Given the description of an element on the screen output the (x, y) to click on. 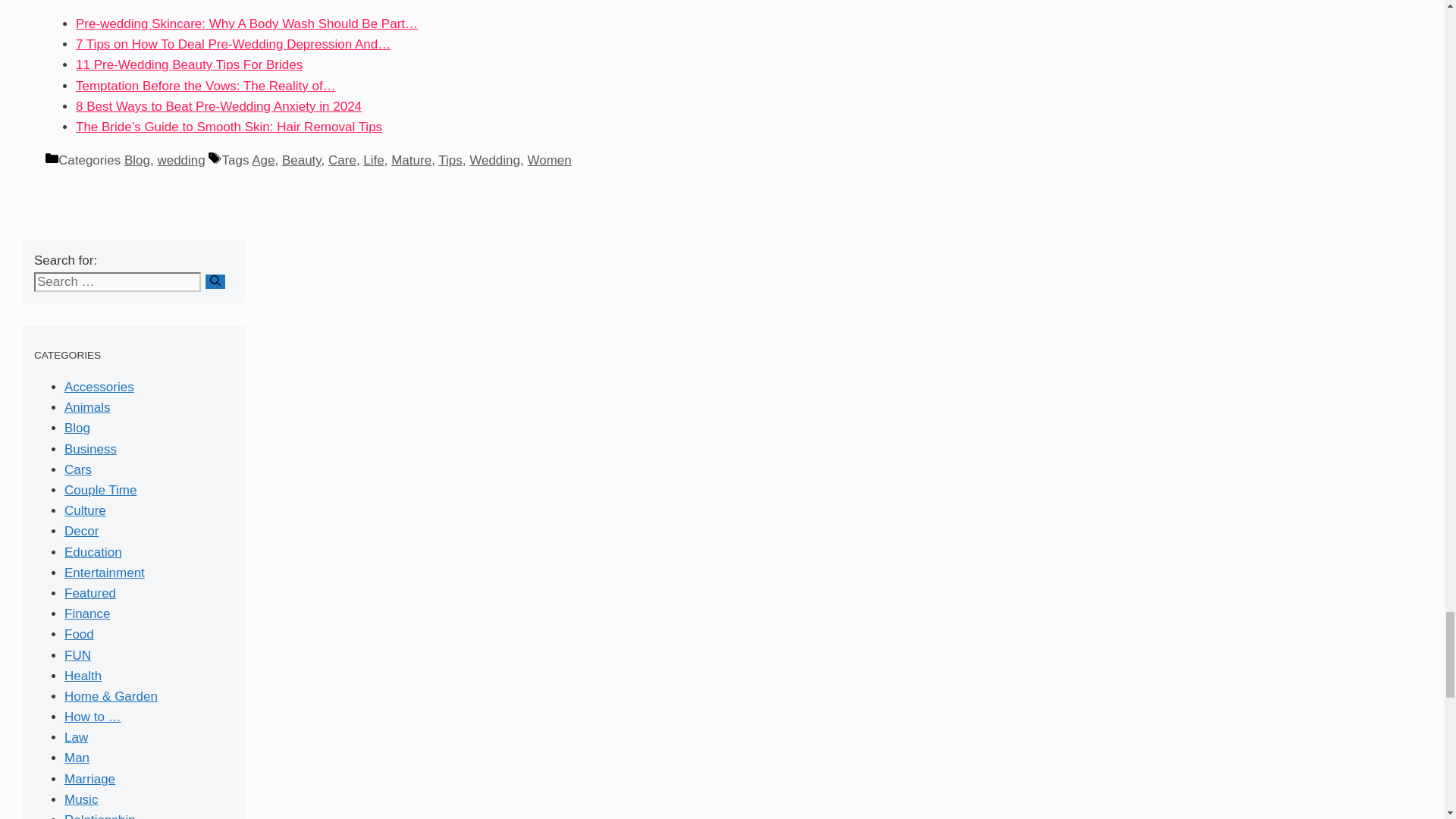
Life (373, 160)
Blog (77, 427)
Animals (87, 407)
Mature (410, 160)
wedding (181, 160)
11 Pre-Wedding Beauty Tips For Brides (188, 64)
Search for: (116, 281)
Business (90, 449)
Cars (77, 469)
Blog (136, 160)
